Given the description of an element on the screen output the (x, y) to click on. 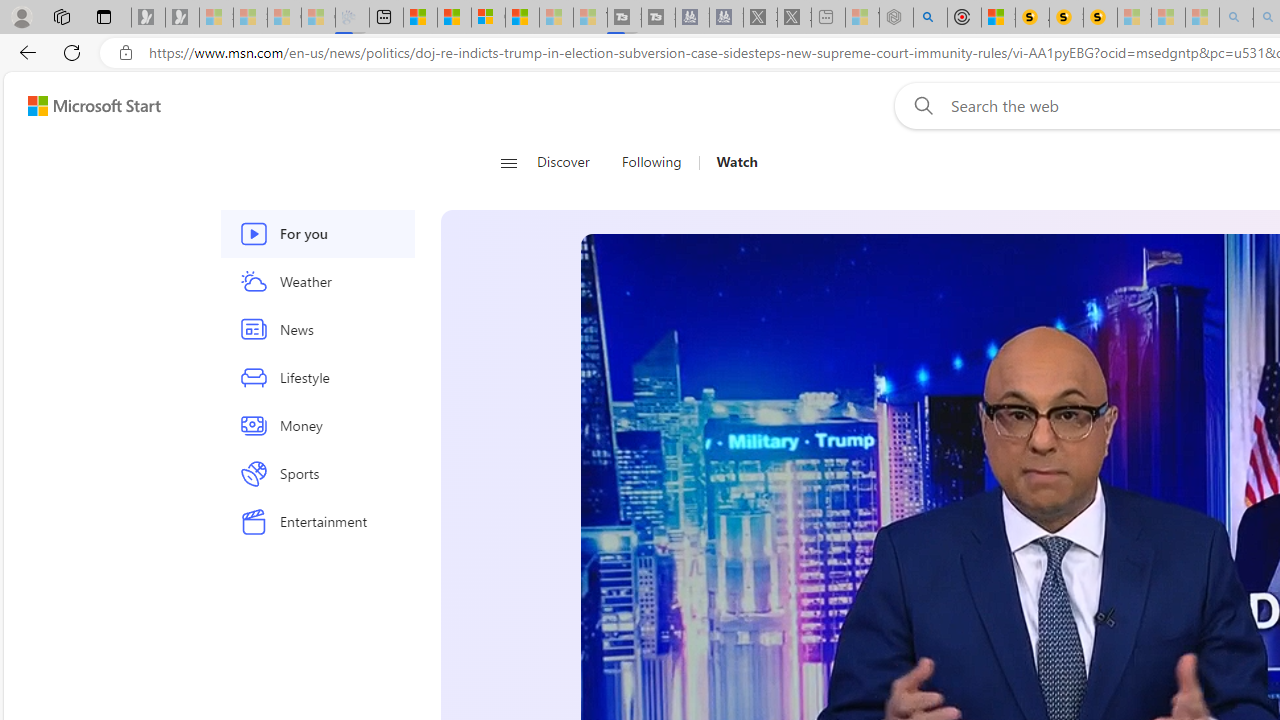
Watch (737, 162)
Michelle Starr, Senior Journalist at ScienceAlert (1100, 17)
Newsletter Sign Up - Sleeping (182, 17)
New tab - Sleeping (827, 17)
Wildlife - MSN - Sleeping (862, 17)
amazon - Search - Sleeping (1236, 17)
Open navigation menu (508, 162)
Streaming Coverage | T3 - Sleeping (624, 17)
